Given the description of an element on the screen output the (x, y) to click on. 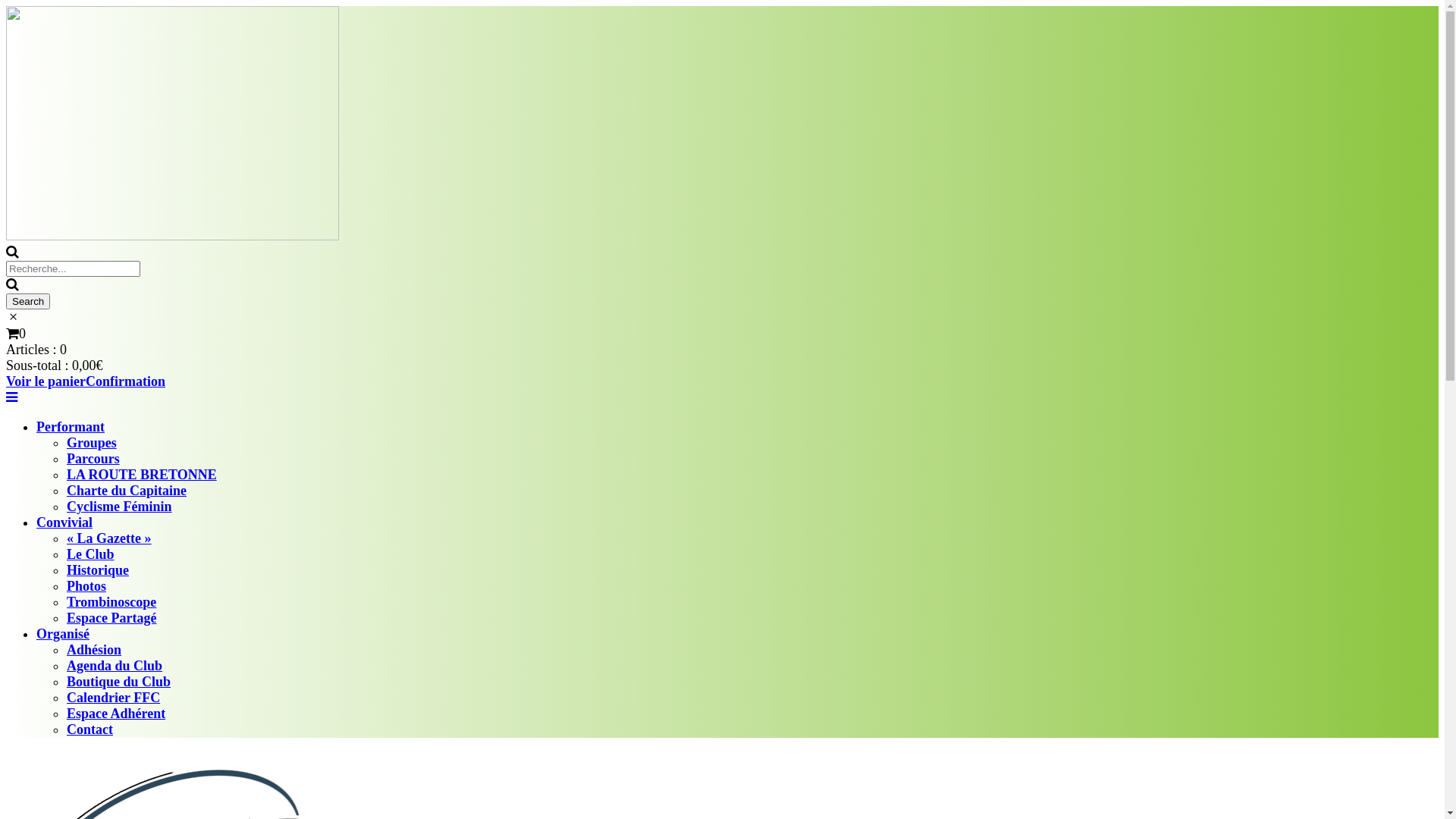
Historique Element type: text (97, 569)
Photos Element type: text (86, 585)
Contact Element type: text (89, 729)
Boutique du Club Element type: text (118, 681)
Voir le panier Element type: text (45, 381)
Trombinoscope Element type: text (111, 601)
Groupes Element type: text (91, 442)
Confirmation Element type: text (125, 381)
Performant Element type: text (70, 426)
logo-cyclosaintave Element type: hover (172, 123)
LA ROUTE BRETONNE Element type: text (141, 474)
Agenda du Club Element type: text (114, 665)
Le Club Element type: text (90, 553)
Parcours Element type: text (92, 458)
Charte du Capitaine Element type: text (126, 490)
Convivial Element type: text (64, 522)
Calendrier FFC Element type: text (113, 697)
Search Element type: text (28, 301)
